Given the description of an element on the screen output the (x, y) to click on. 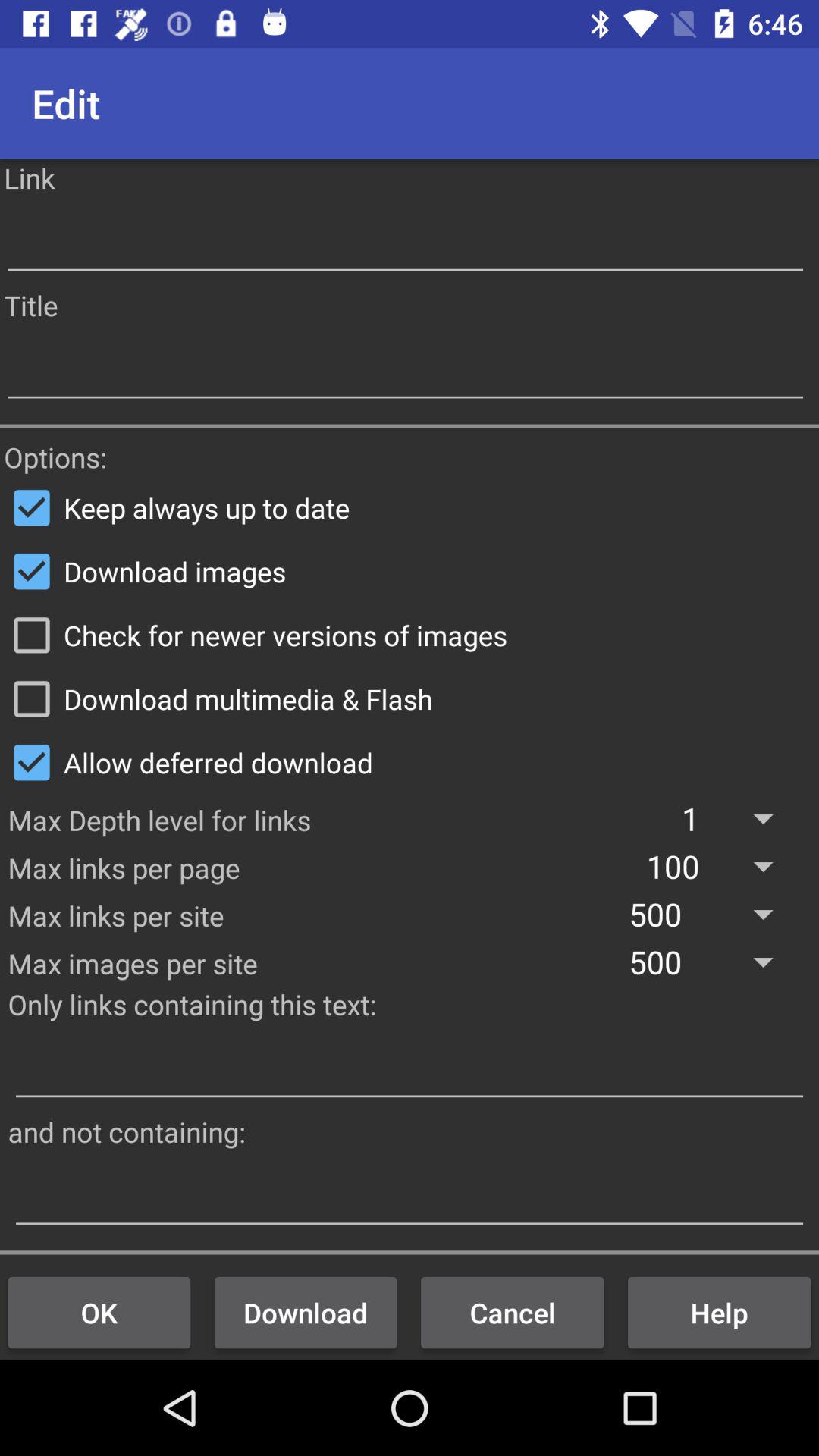
scroll until allow deferred download item (409, 762)
